Given the description of an element on the screen output the (x, y) to click on. 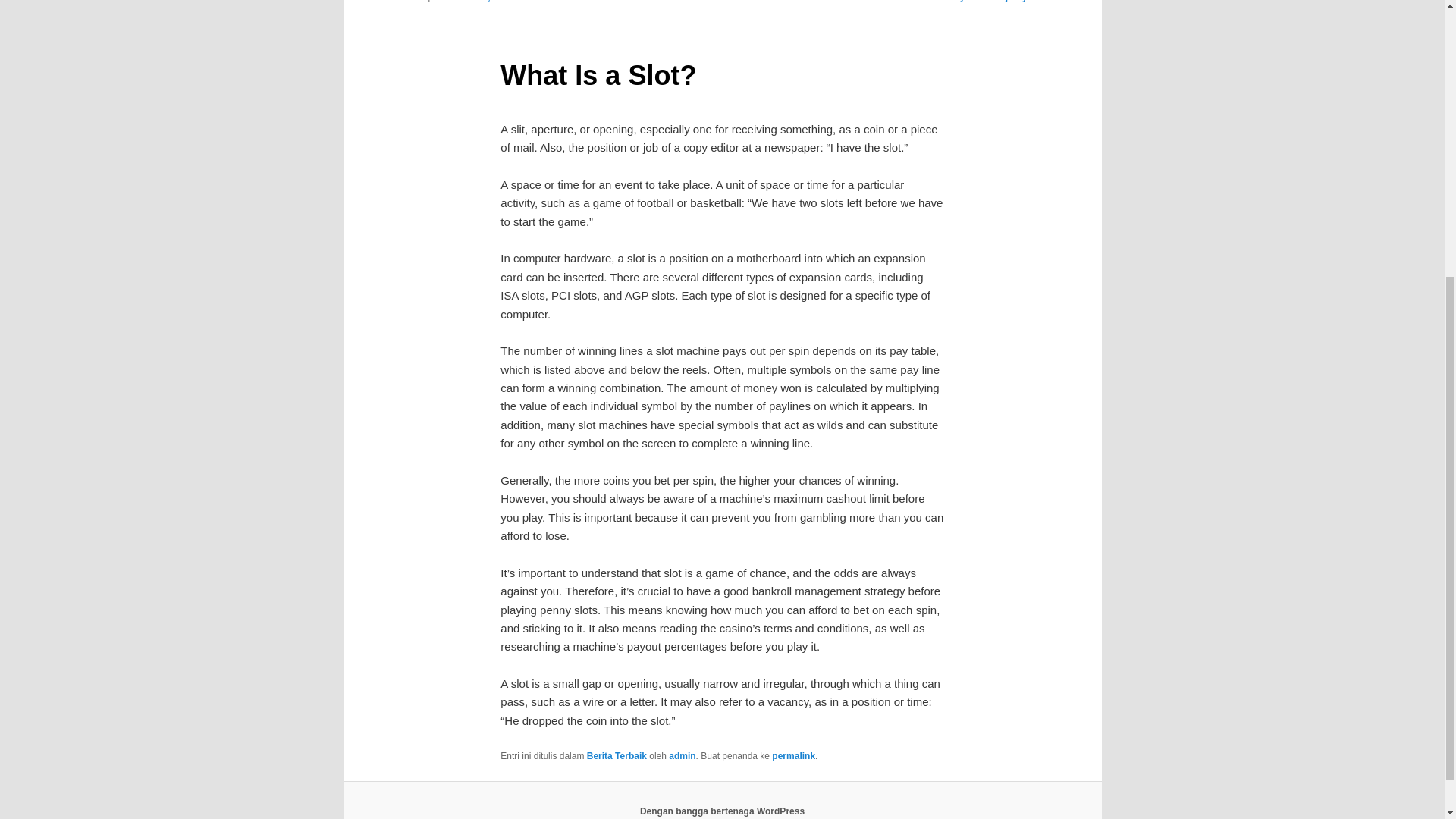
Maret 16, 2024 (482, 1)
permalink (793, 756)
Permalink untuk What Is a Slot? (793, 756)
Platform Penerbitan Semantik Pribadi (722, 810)
admin (681, 756)
Dengan bangga bertenaga WordPress (722, 810)
12:13 pm (482, 1)
Berita Terbaik (616, 756)
